Given the description of an element on the screen output the (x, y) to click on. 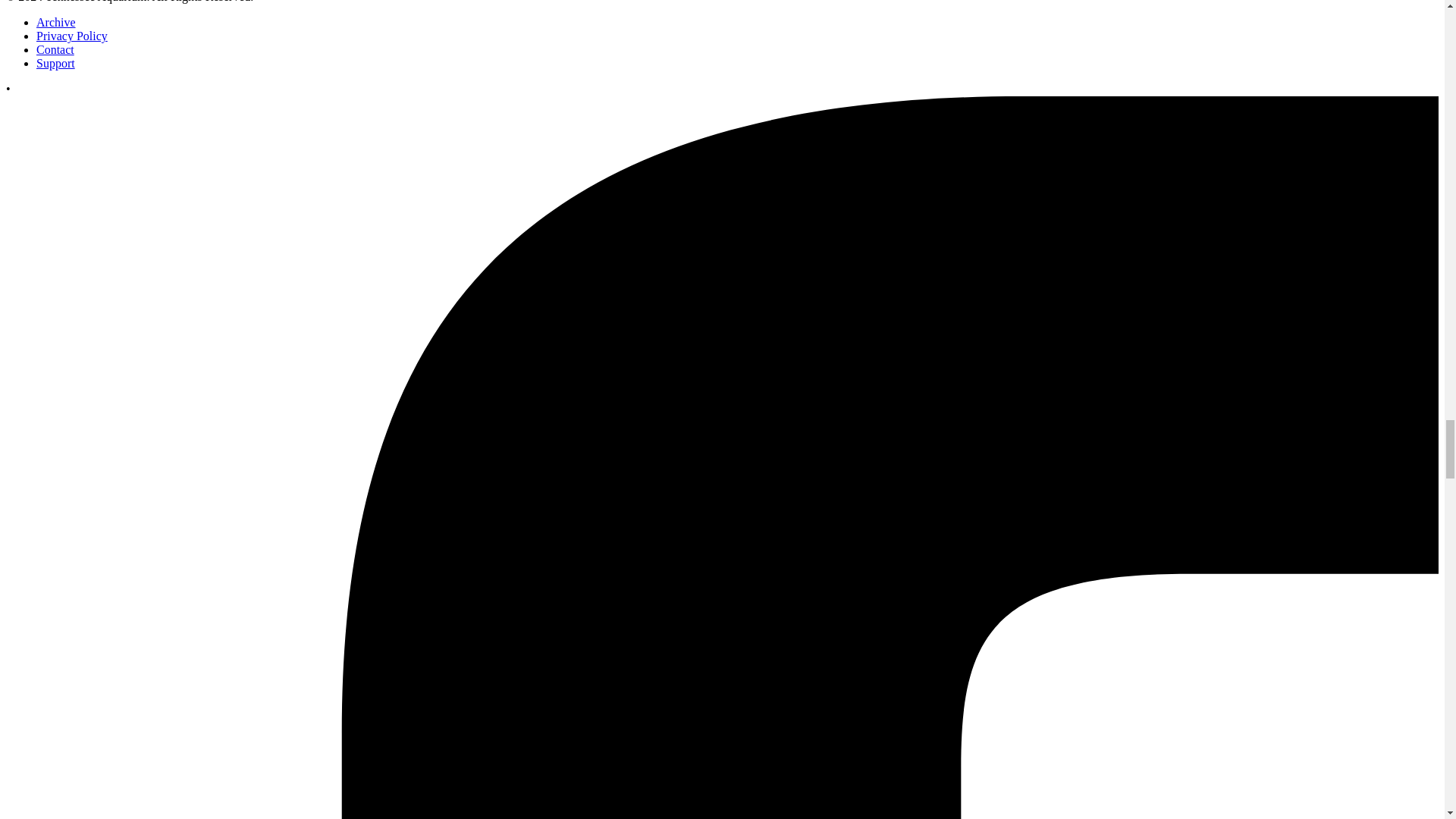
Support (55, 62)
Contact (55, 49)
Privacy Policy (71, 35)
Archive (55, 21)
